Given the description of an element on the screen output the (x, y) to click on. 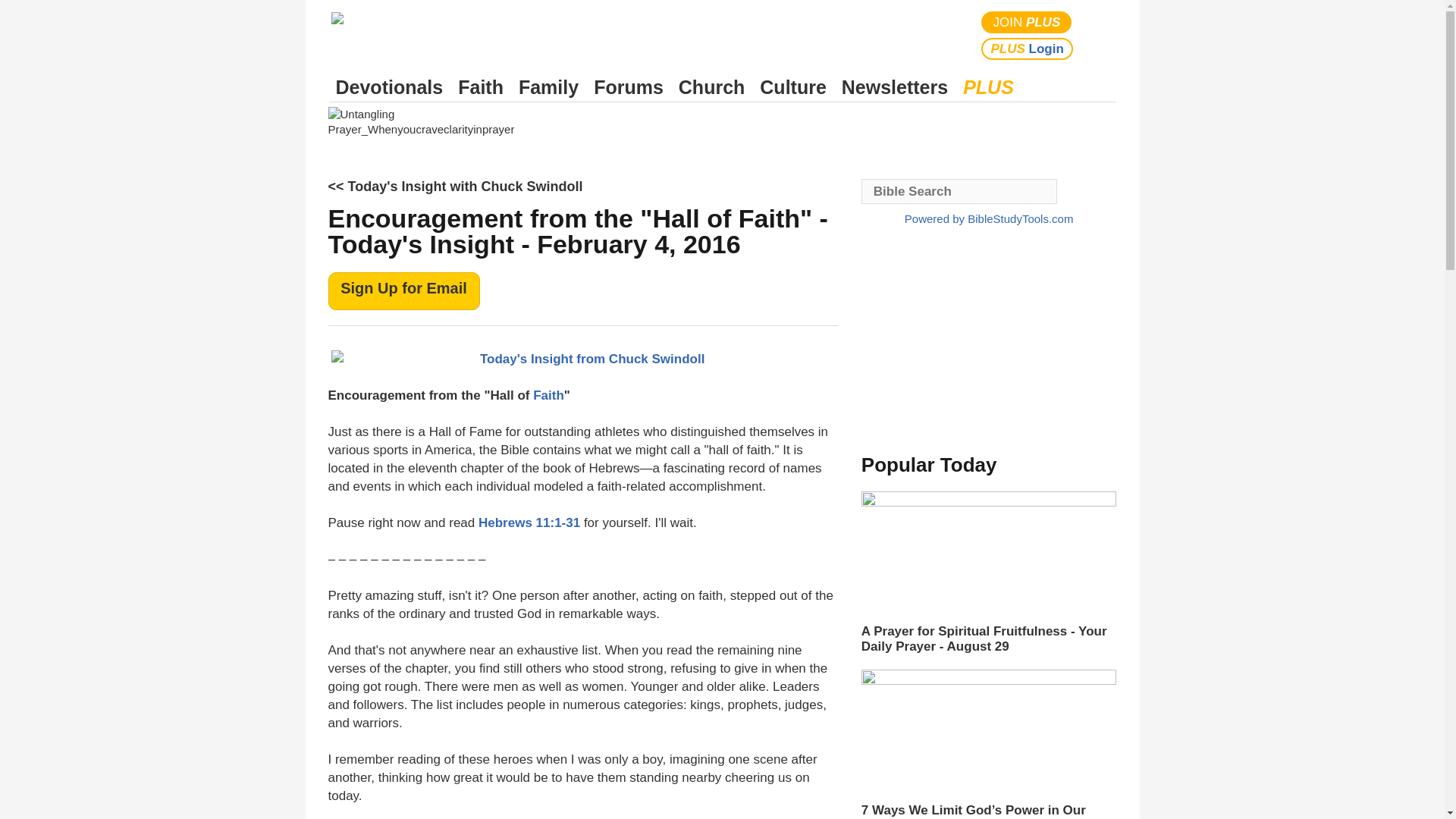
Join Plus (1026, 22)
Faith (481, 87)
PLUS Login (1026, 48)
Plus Login (1026, 48)
Search (1101, 34)
Family (548, 87)
Devotionals (389, 87)
JOIN PLUS (1026, 22)
